Given the description of an element on the screen output the (x, y) to click on. 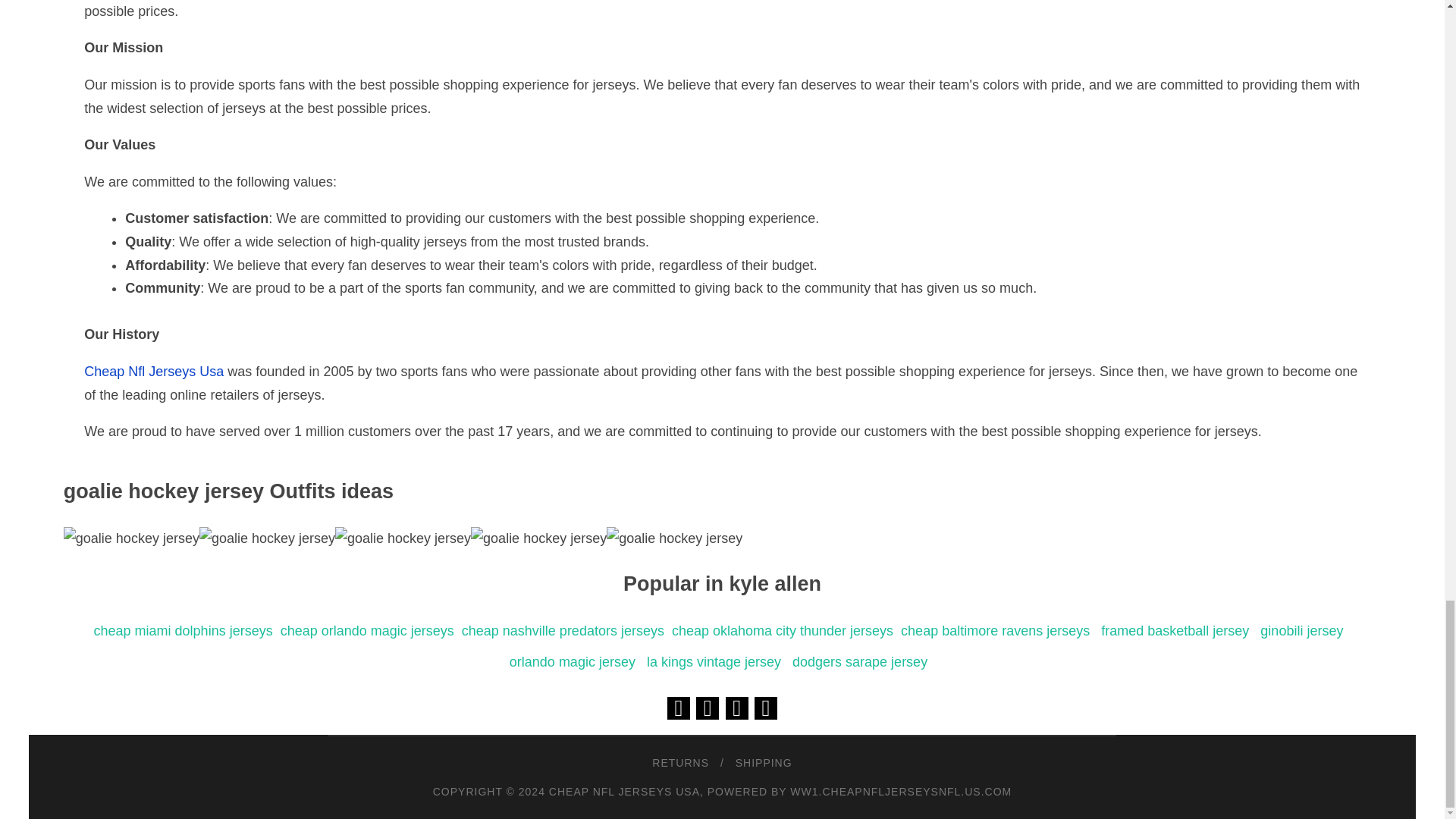
cheap orlando magic jerseys (367, 630)
Cheap Nfl Jerseys Usa (154, 371)
cheap baltimore ravens jerseys (995, 630)
framed basketball jersey (1174, 630)
RETURNS (684, 762)
SHIPPING (760, 762)
cheap miami dolphins jerseys (183, 630)
cheap nashville predators jerseys (562, 630)
ginobili jersey (1301, 630)
cheap oklahoma city thunder jerseys (782, 630)
